Given the description of an element on the screen output the (x, y) to click on. 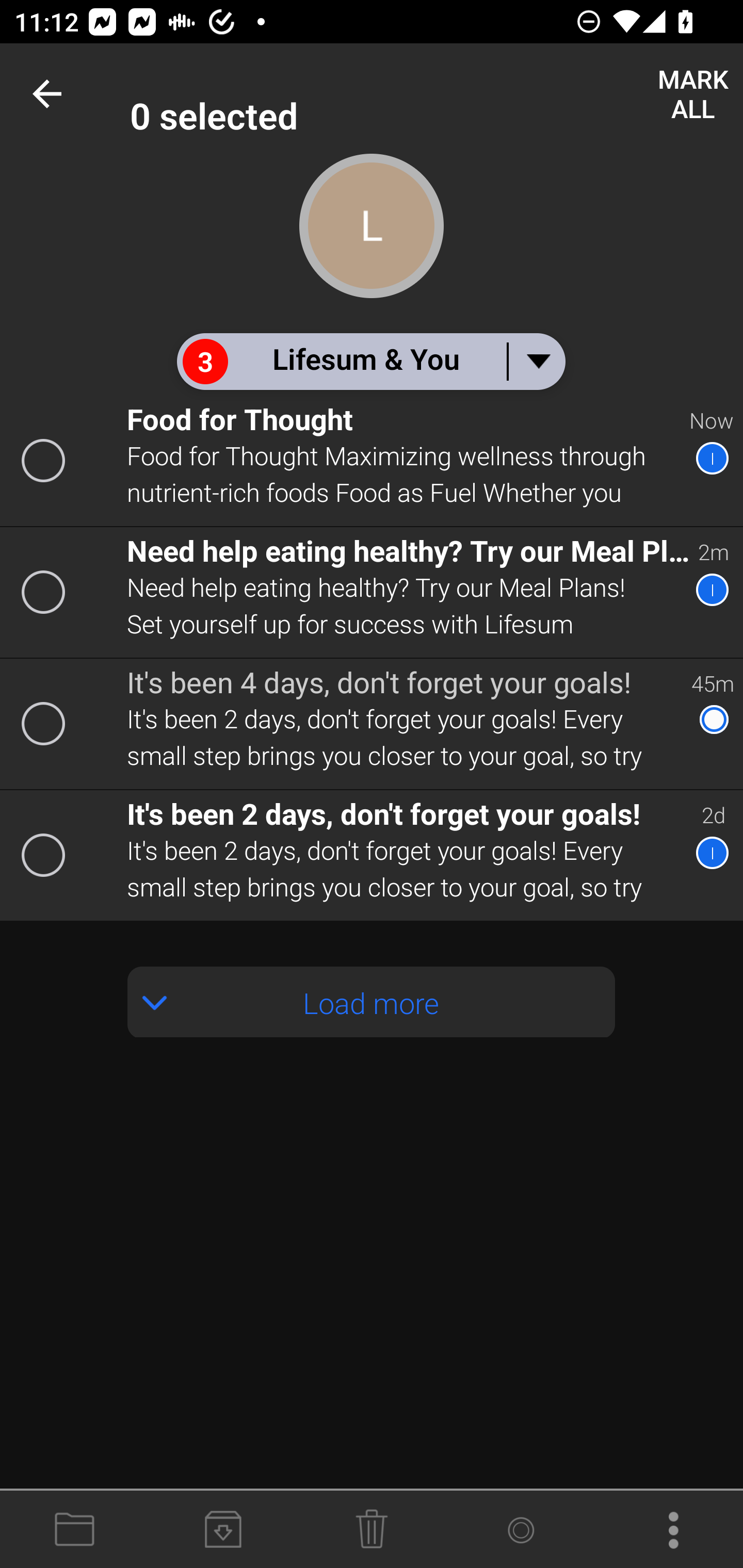
Navigate up (50, 93)
Lifesum lifesum@communication.lifesum.com (436, 93)
MARK
ALL (692, 93)
3 Lifesum & You (370, 361)
Load more (371, 1001)
Move (74, 1529)
Archive (222, 1529)
Delete (371, 1529)
Mark as Read (520, 1529)
More Options (668, 1529)
